Given the description of an element on the screen output the (x, y) to click on. 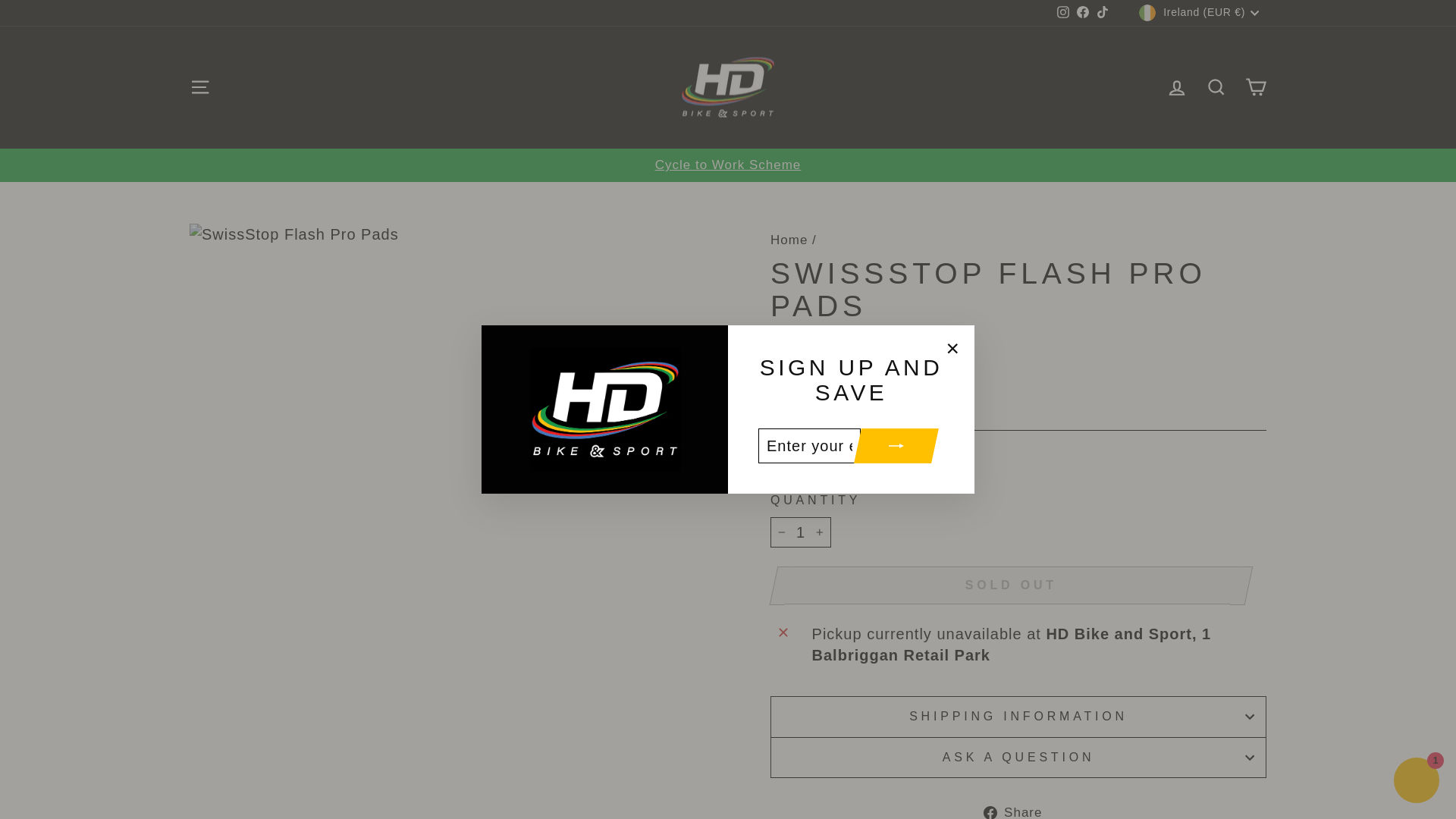
Shopify online store chat (1416, 781)
Share on Facebook (1019, 809)
HD Bike and Sport on TikTok (1102, 12)
HD Bike and Sport on Facebook (1083, 12)
HD Bike and Sport on Instagram (1062, 12)
1 (800, 531)
Back to the frontpage (789, 239)
